Given the description of an element on the screen output the (x, y) to click on. 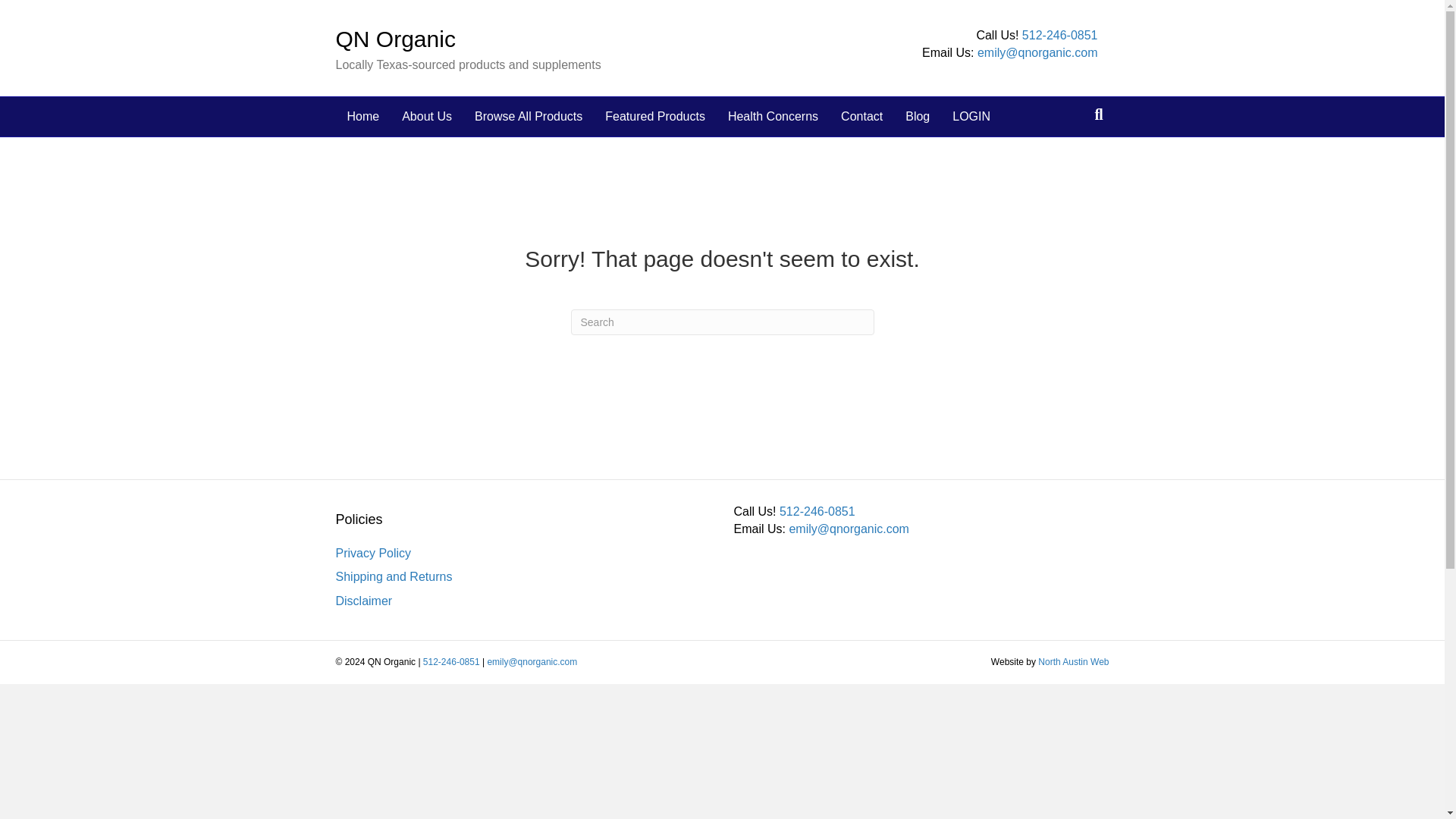
Type and press Enter to search. (721, 321)
